Given the description of an element on the screen output the (x, y) to click on. 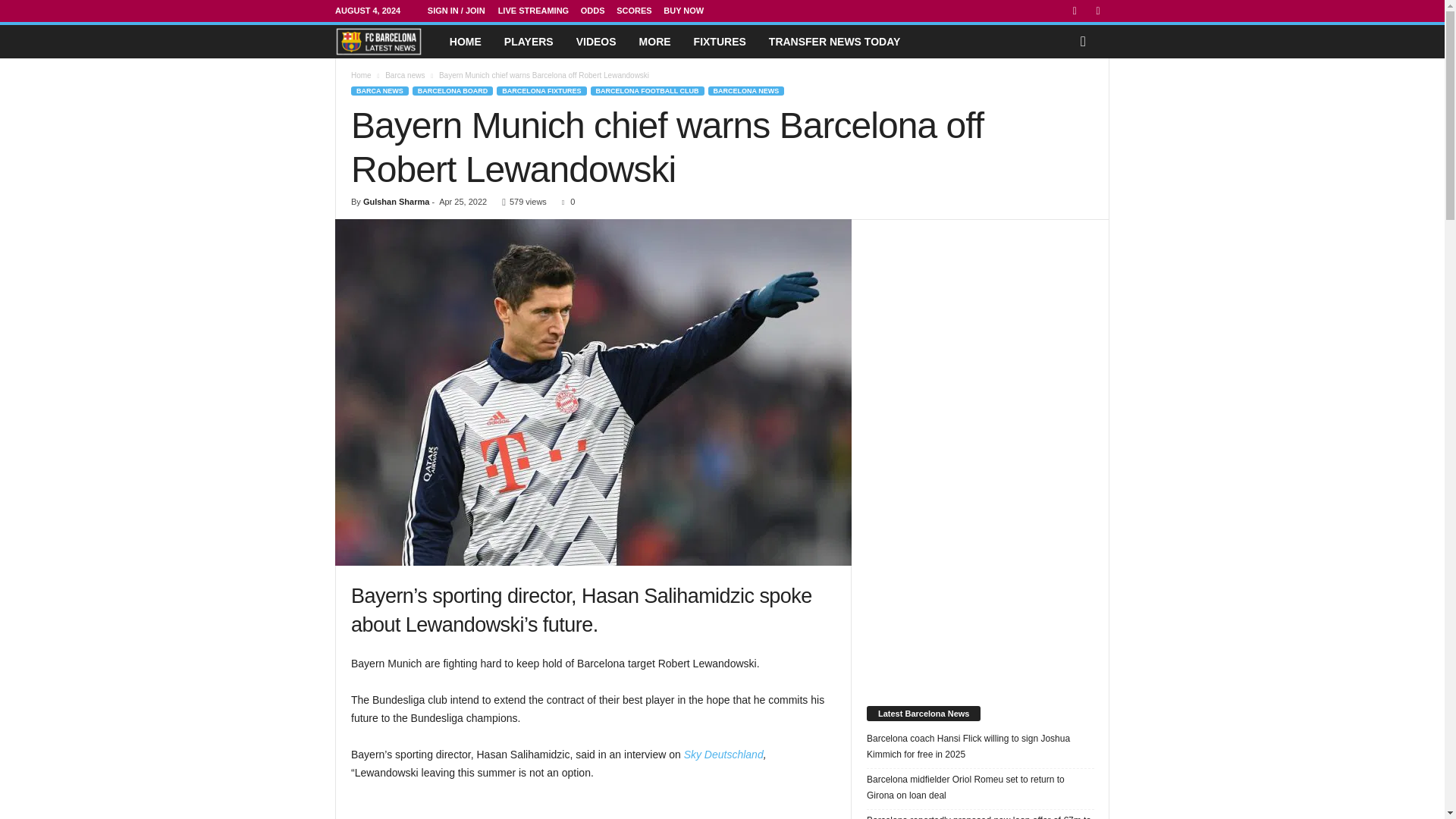
BUY NOW (689, 10)
LIVE STREAMING (539, 10)
ODDS (598, 10)
FC Barcelona Latest News Now Today Morning (450, 41)
View all posts in Barca news (410, 75)
SCORES (640, 10)
